Given the description of an element on the screen output the (x, y) to click on. 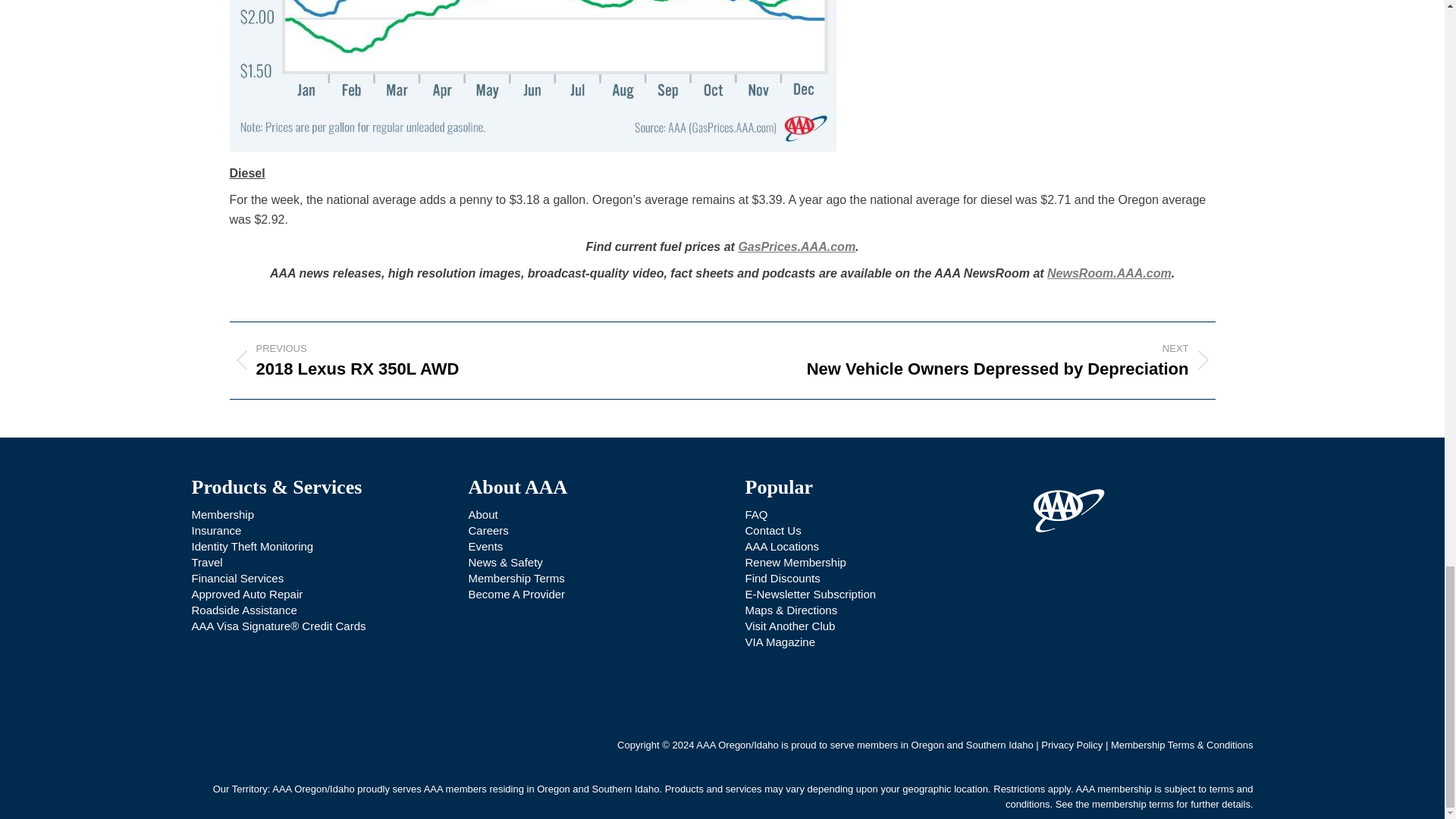
GasPrices.AAA.com (797, 246)
